Given the description of an element on the screen output the (x, y) to click on. 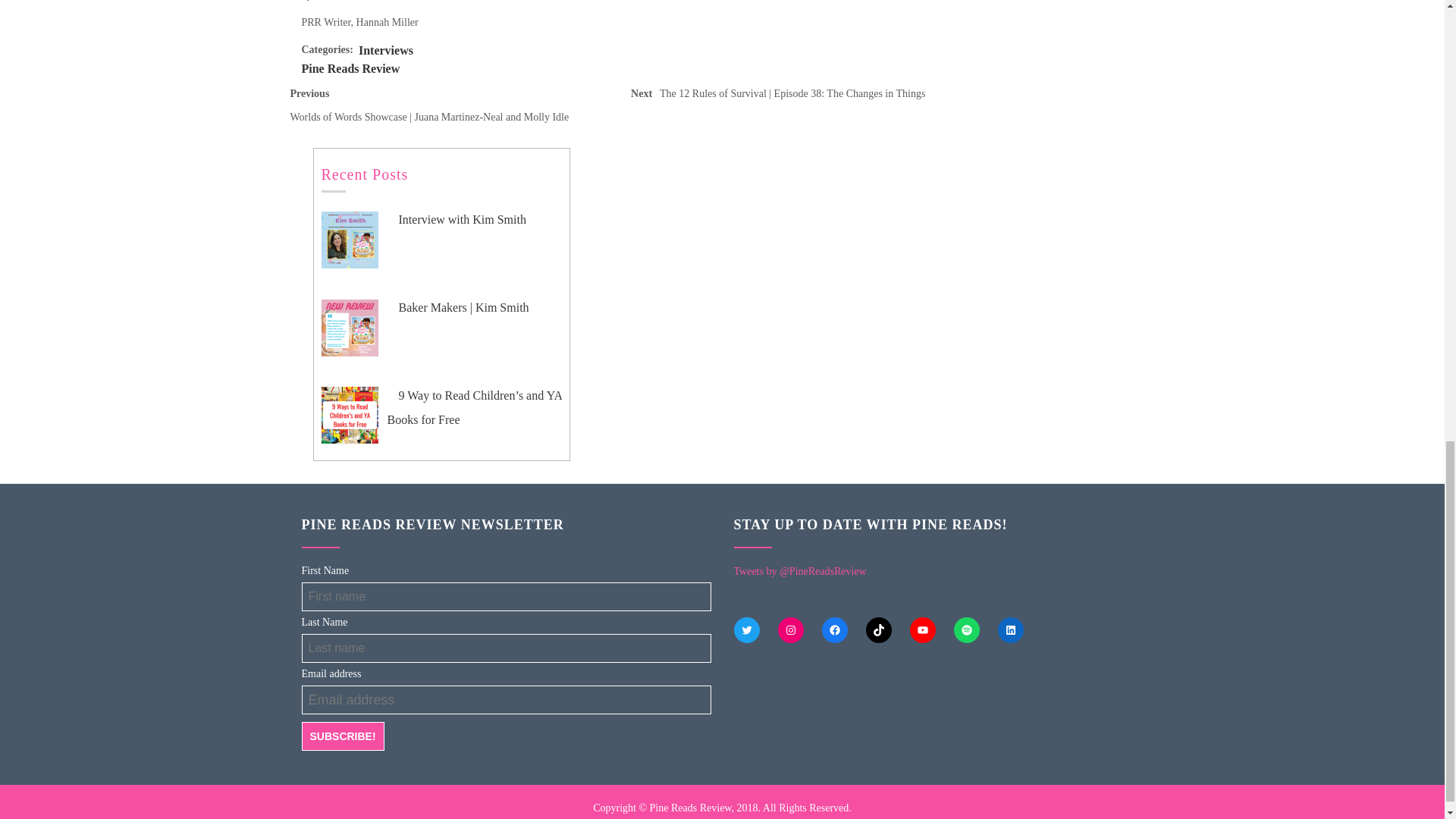
Interview with Kim Smith (456, 219)
Interviews (385, 50)
Pine Reads Review (350, 68)
Subscribe! (342, 736)
Subscribe! (342, 736)
